Given the description of an element on the screen output the (x, y) to click on. 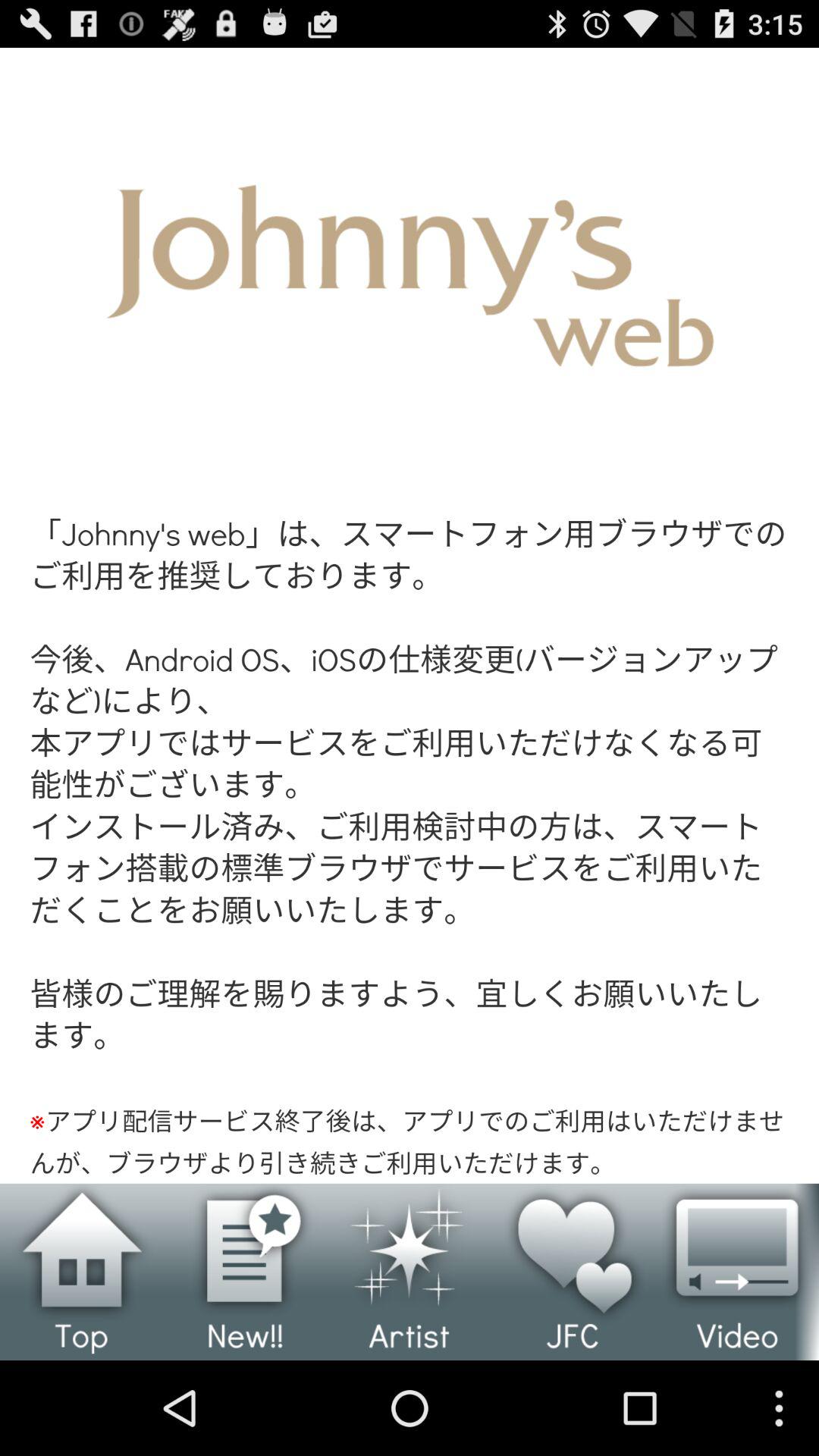
video (737, 1271)
